Given the description of an element on the screen output the (x, y) to click on. 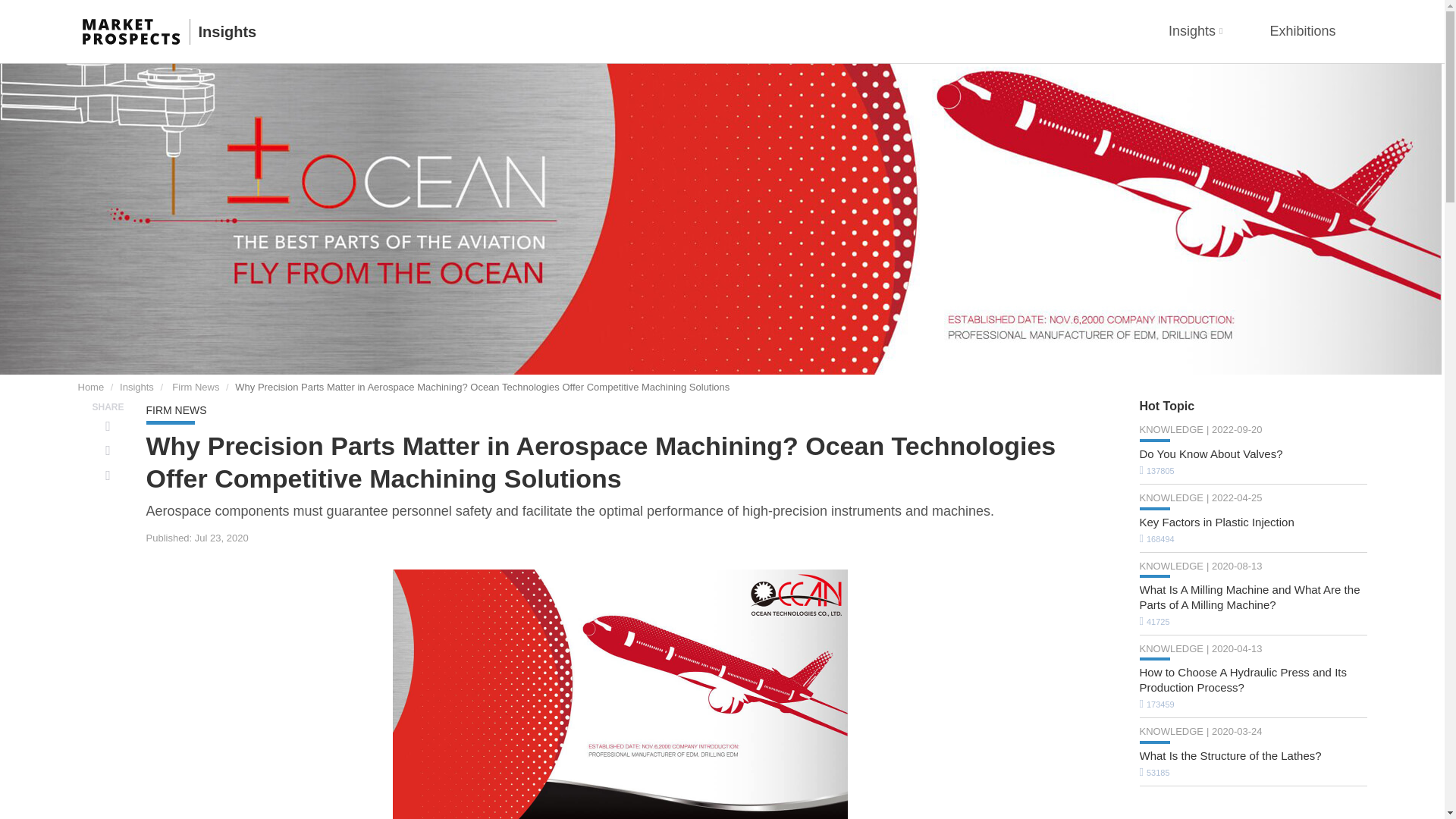
Insights (1194, 31)
Firm News (195, 387)
Exhibitions (1302, 31)
Insights (227, 31)
Insights (136, 387)
Home (90, 387)
FIRM NEWS (175, 410)
